Given the description of an element on the screen output the (x, y) to click on. 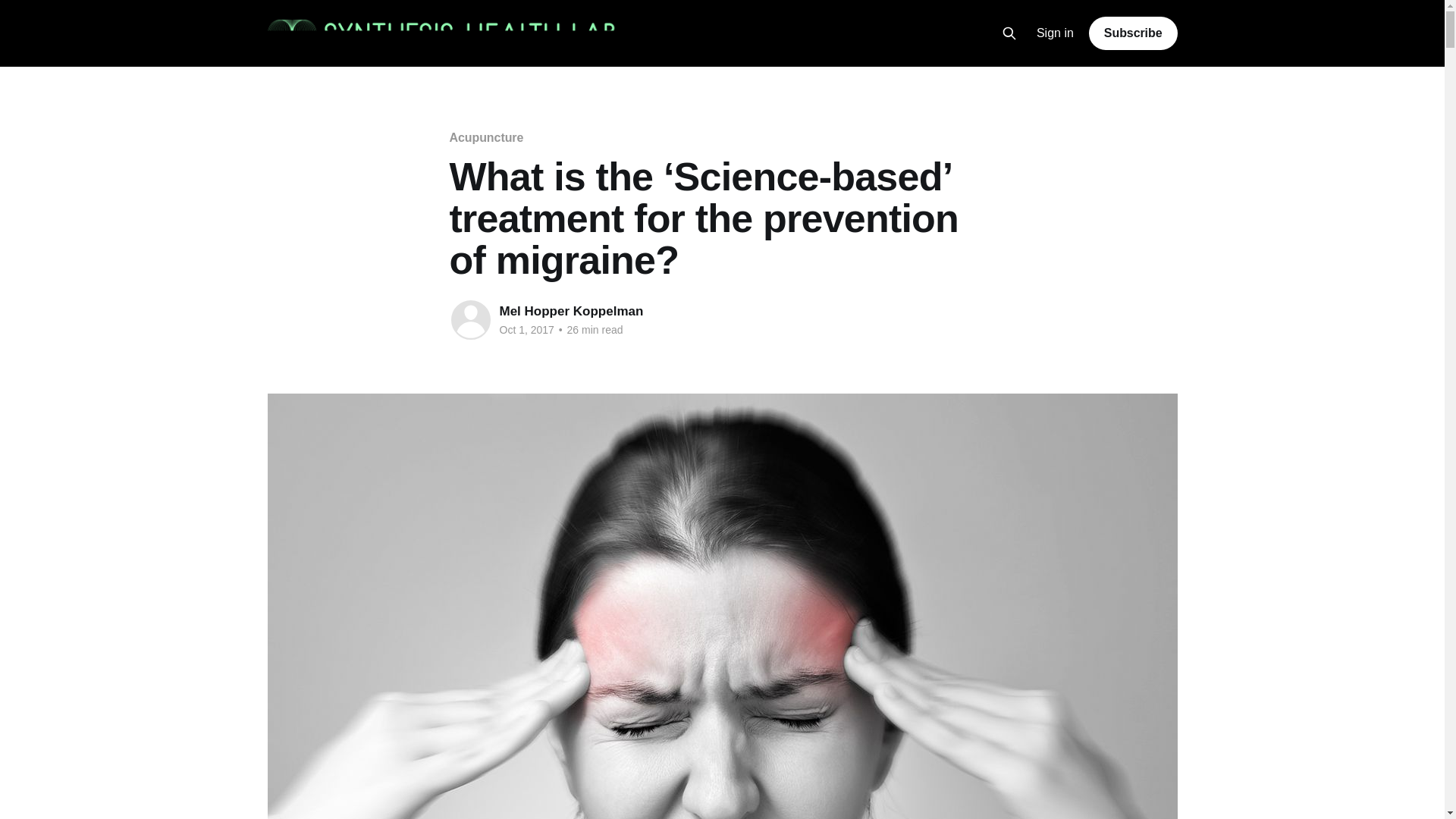
Mel Hopper Koppelman (571, 310)
Sign in (1055, 33)
Subscribe (1133, 32)
Acupuncture (485, 137)
